Given the description of an element on the screen output the (x, y) to click on. 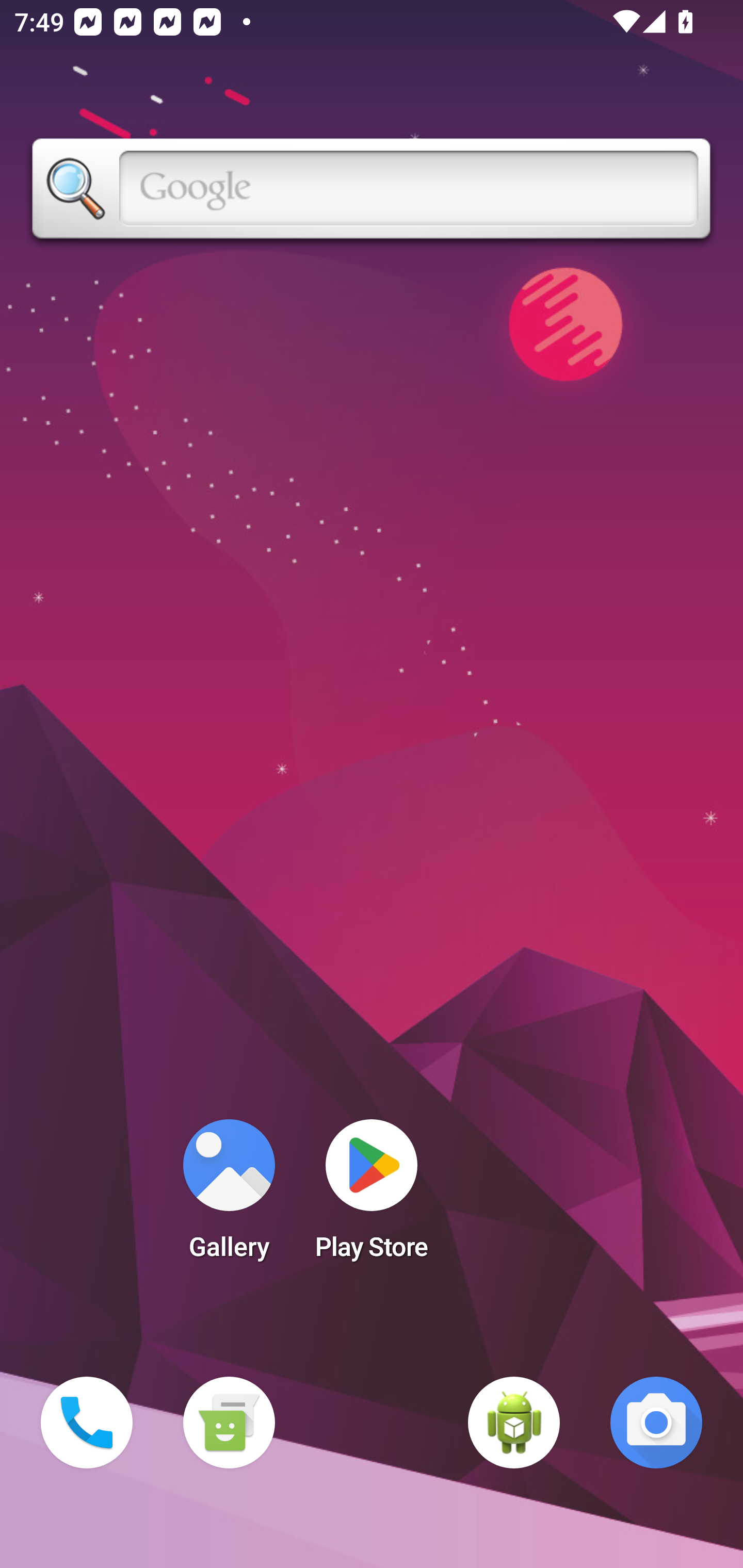
Gallery (228, 1195)
Play Store (371, 1195)
Phone (86, 1422)
Messaging (228, 1422)
WebView Browser Tester (513, 1422)
Camera (656, 1422)
